Given the description of an element on the screen output the (x, y) to click on. 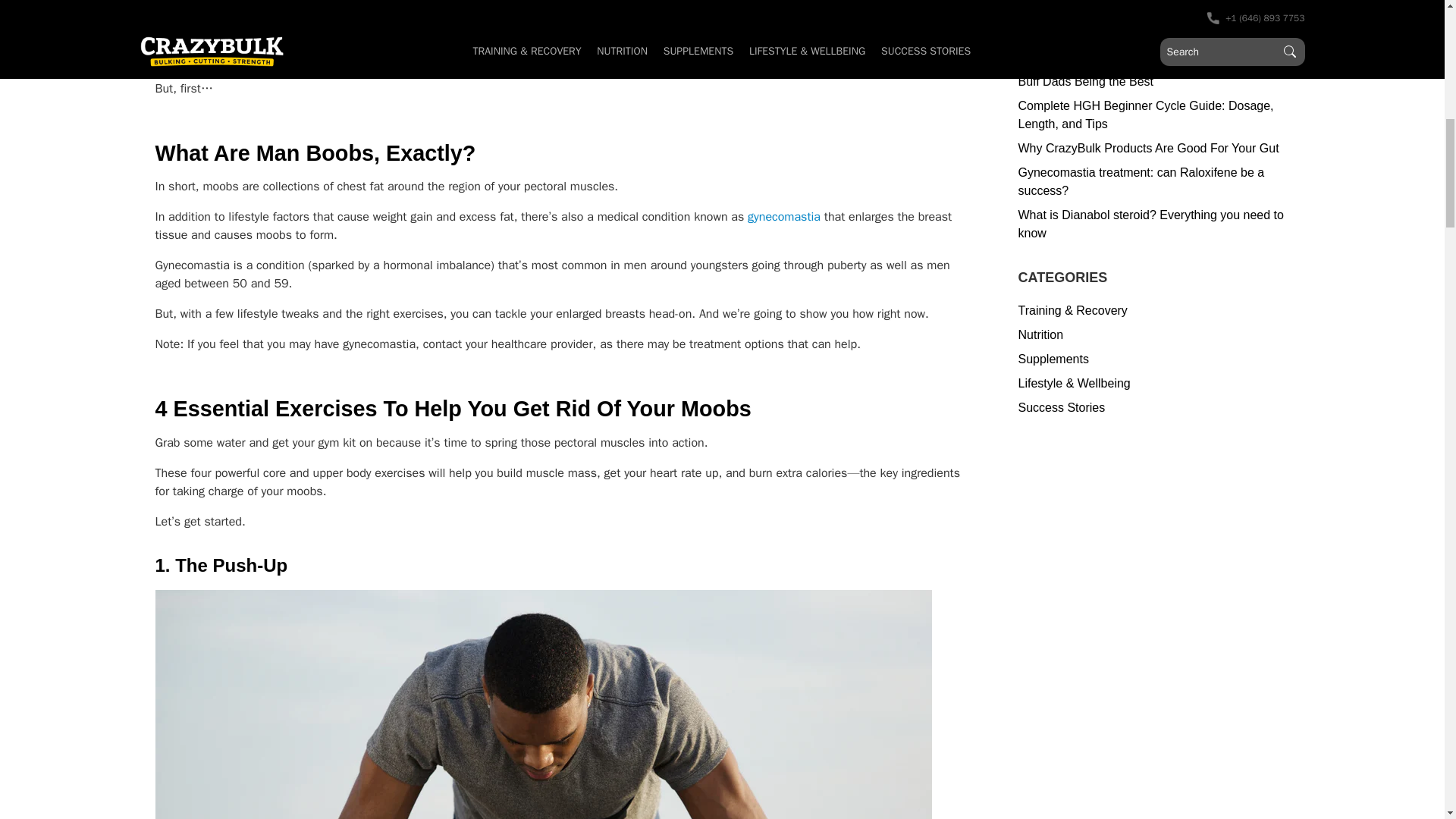
Gynecomastia treatment: can Raloxifene be a success? (1152, 181)
get strong (387, 2)
Buff Dads Being the Best (1152, 81)
The 10 Best Forearm Exercises For Building Muscle (1152, 6)
gynecomastia (784, 216)
Why CrazyBulk Products Are Good For Your Gut (1152, 148)
Complete HGH Beginner Cycle Guide: Dosage, Length, and Tips (1152, 115)
